Given the description of an element on the screen output the (x, y) to click on. 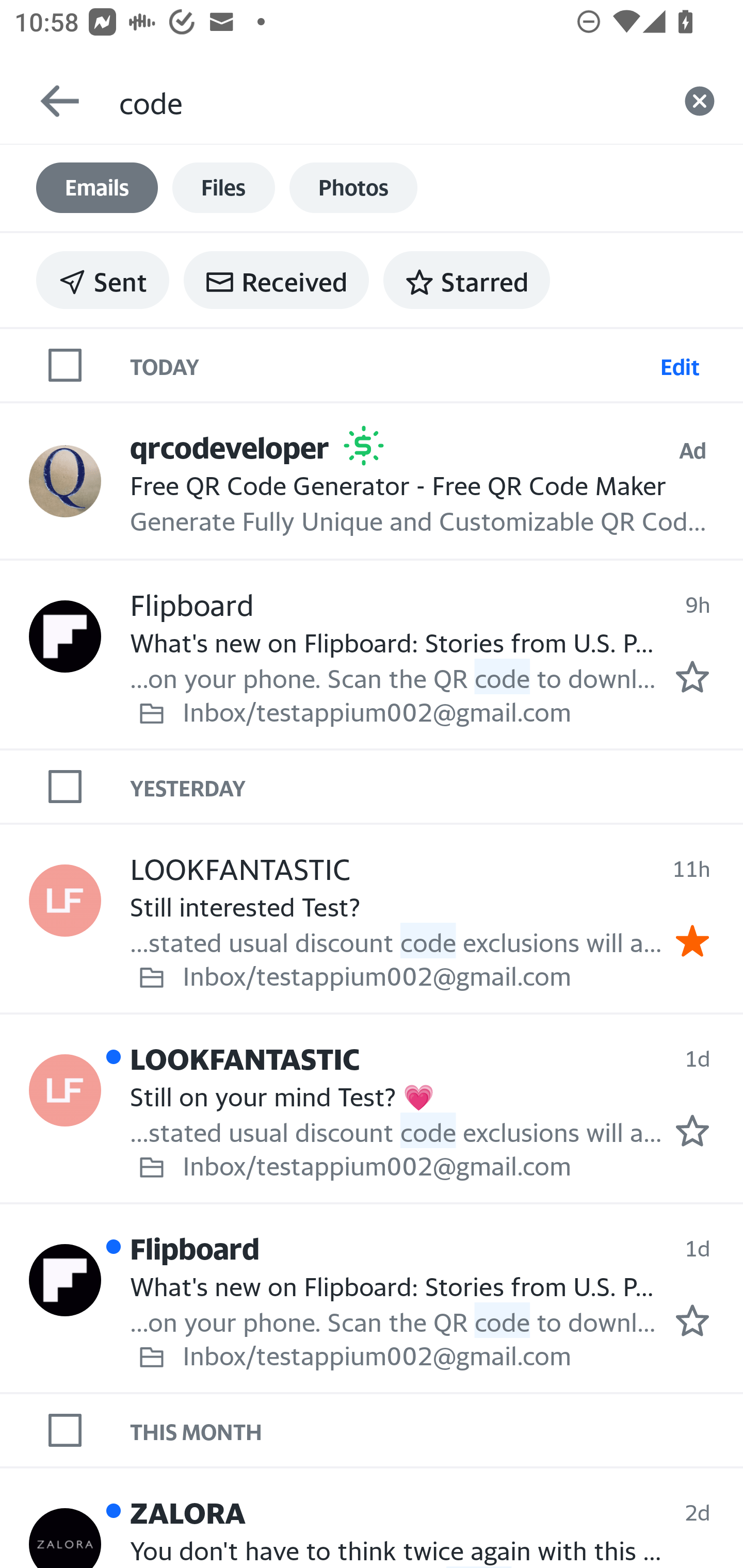
Back (50, 101)
code (387, 101)
Clear (699, 101)
Emails (96, 188)
Files (223, 188)
Photos (353, 188)
Sent (102, 279)
Received (276, 279)
Starred (466, 279)
TODAY (391, 364)
Edit Select emails (679, 364)
Sponsored (363, 445)
Ad (692, 449)
Profile
Flipboard (64, 636)
Mark as starred. (692, 676)
YESTERDAY (436, 786)
Profile
LOOKFANTASTIC (64, 899)
Remove star. (692, 940)
Profile
LOOKFANTASTIC (64, 1089)
Mark as starred. (692, 1131)
Profile
Flipboard (64, 1279)
Mark as starred. (692, 1321)
THIS MONTH (436, 1430)
Profile
ZALORA (64, 1538)
